Given the description of an element on the screen output the (x, y) to click on. 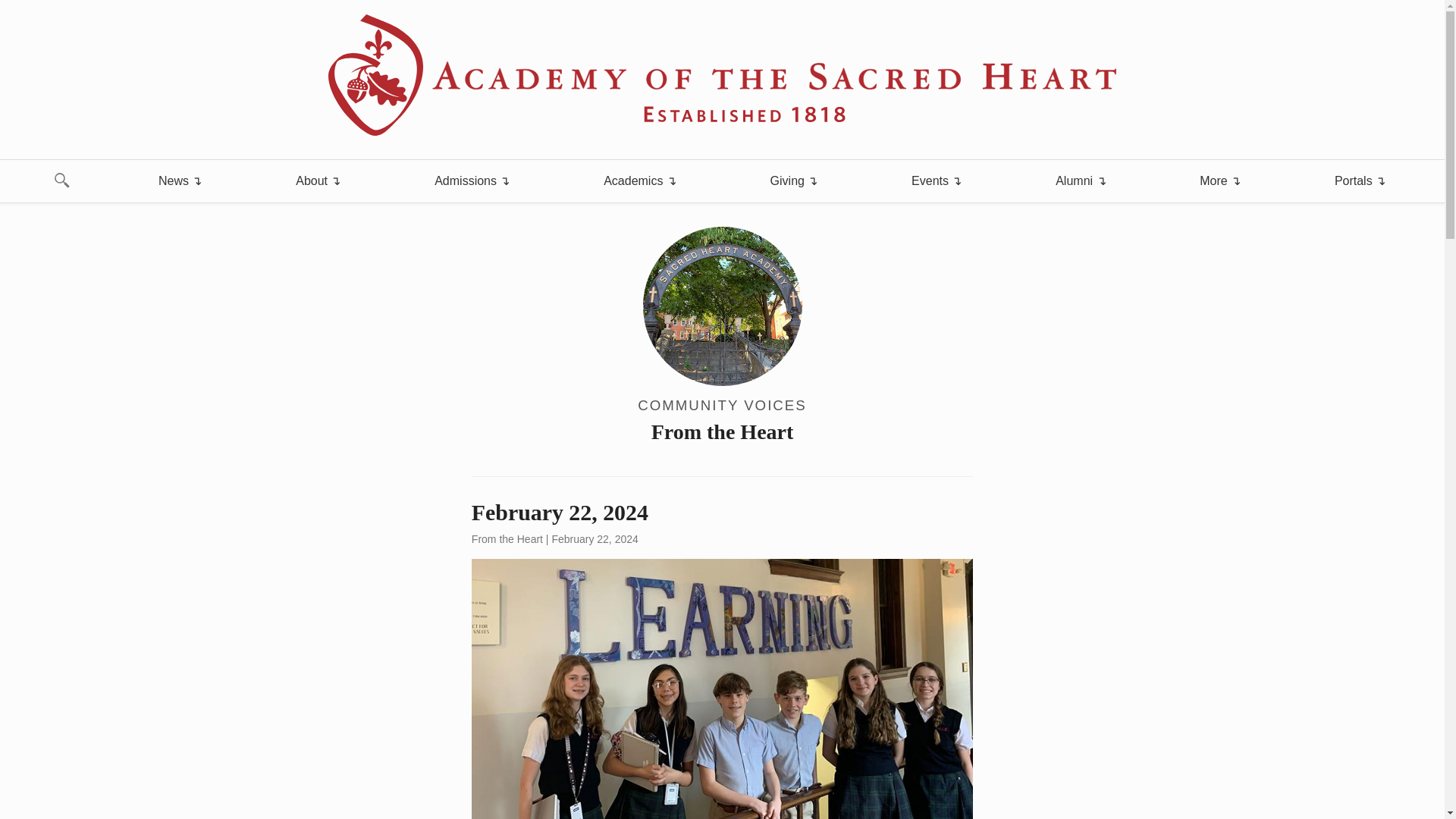
Search (21, 7)
From the Heart, Community Voices (721, 336)
Academy of the Sacred Heart (721, 74)
